Given the description of an element on the screen output the (x, y) to click on. 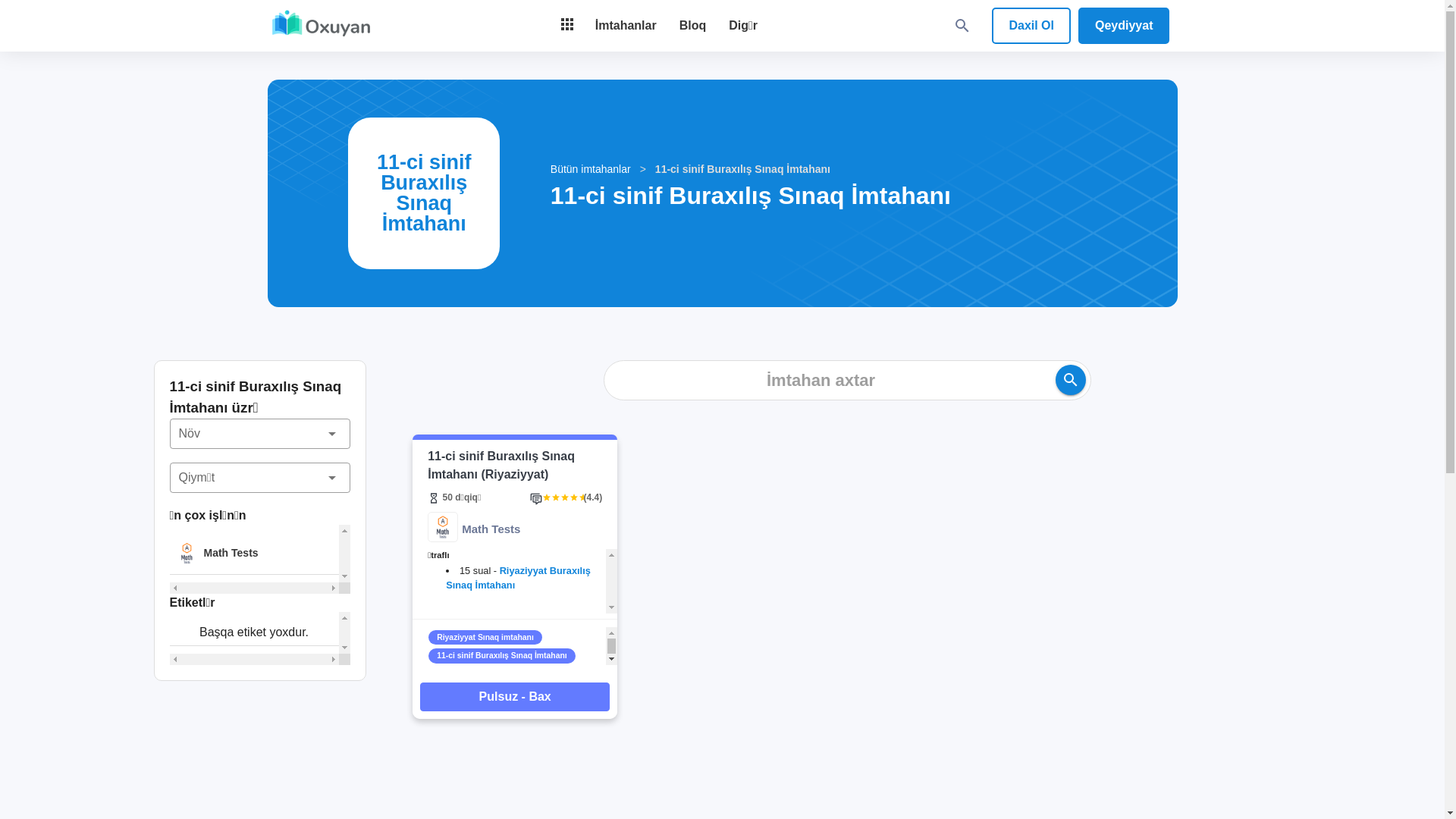
Math Tests Element type: text (473, 529)
Pulsuz - Bax Element type: text (514, 696)
Qeydiyyat Element type: text (1123, 25)
Daxil Ol Element type: text (1030, 25)
Abituriyent Element type: text (457, 674)
Bloq Element type: text (693, 25)
Math Tests Element type: text (253, 553)
11-ci sinif Element type: text (454, 693)
